Given the description of an element on the screen output the (x, y) to click on. 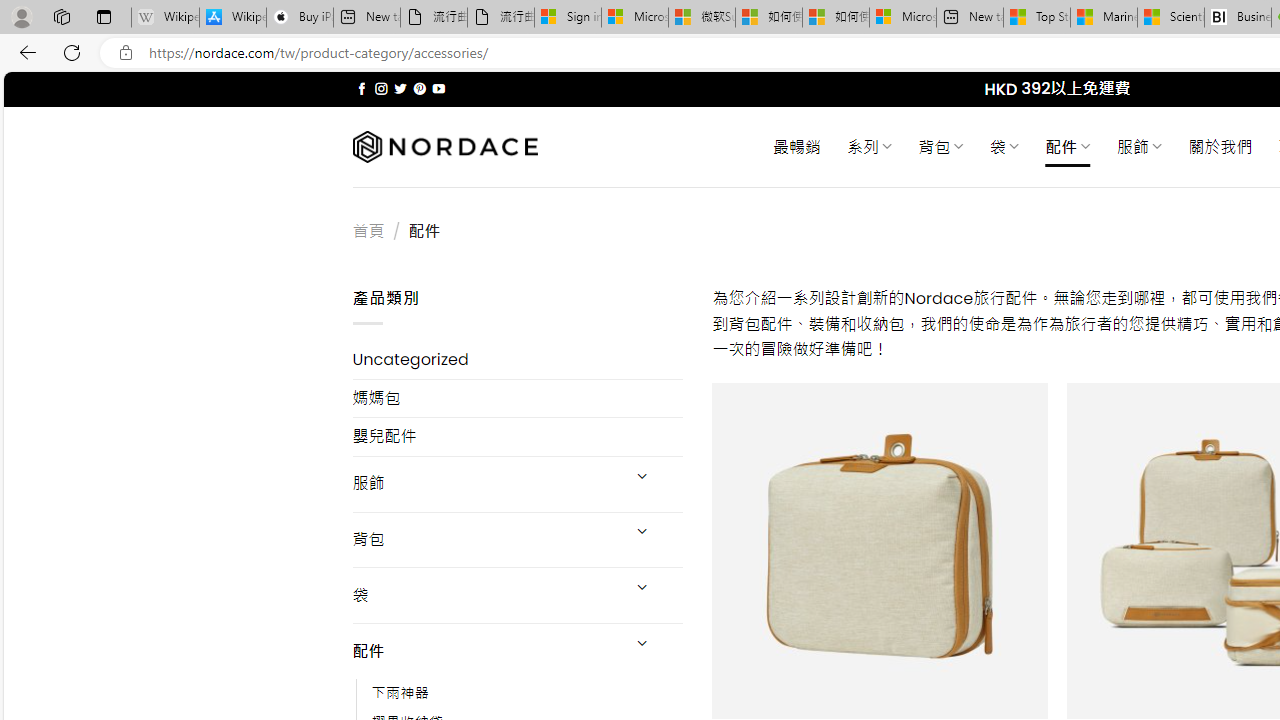
Sign in to your Microsoft account (568, 17)
Uncategorized (517, 359)
Follow on Facebook (361, 88)
Follow on Pinterest (419, 88)
Wikipedia - Sleeping (164, 17)
